Given the description of an element on the screen output the (x, y) to click on. 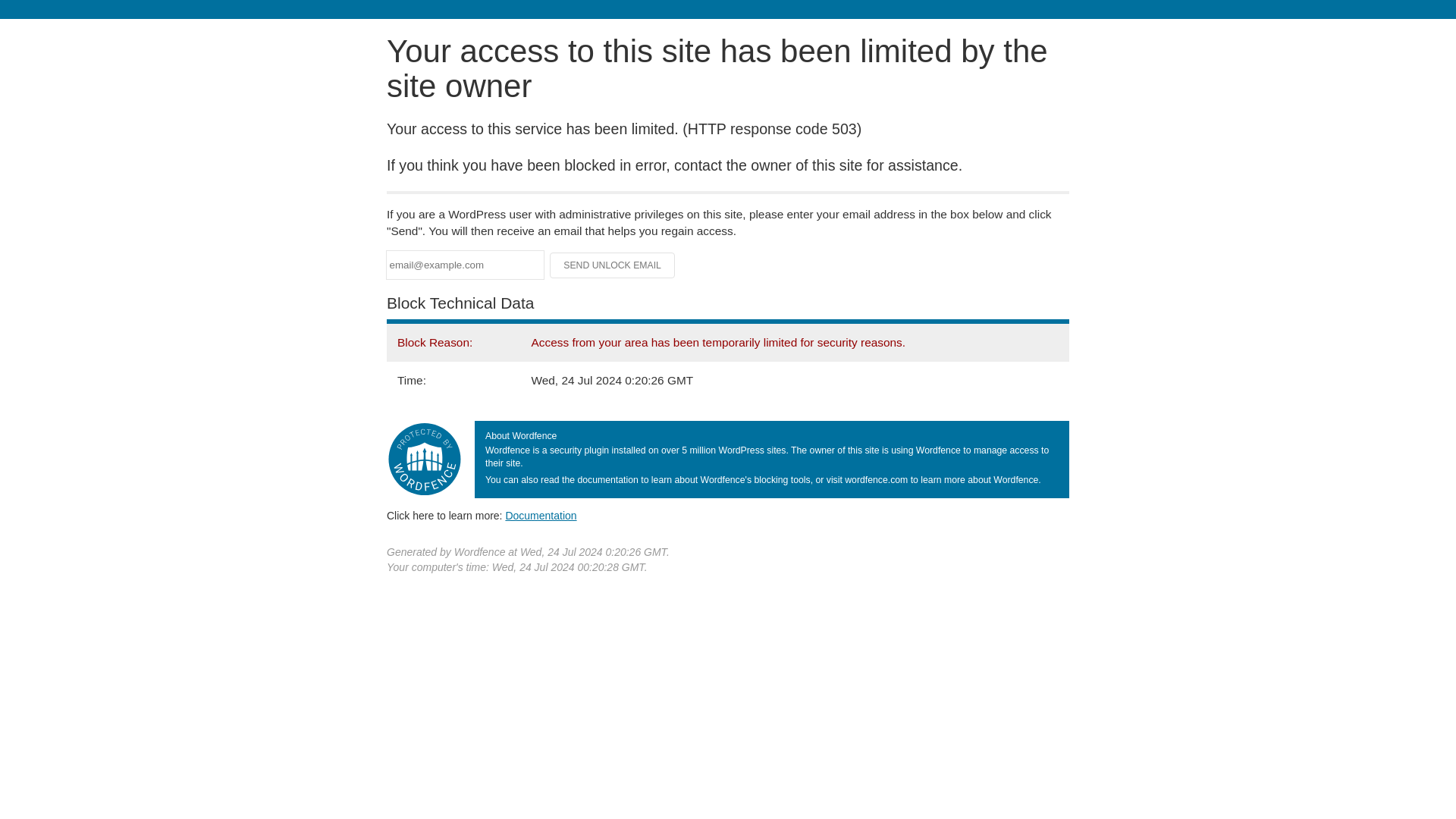
Send Unlock Email (612, 265)
Send Unlock Email (612, 265)
Documentation (540, 515)
